Given the description of an element on the screen output the (x, y) to click on. 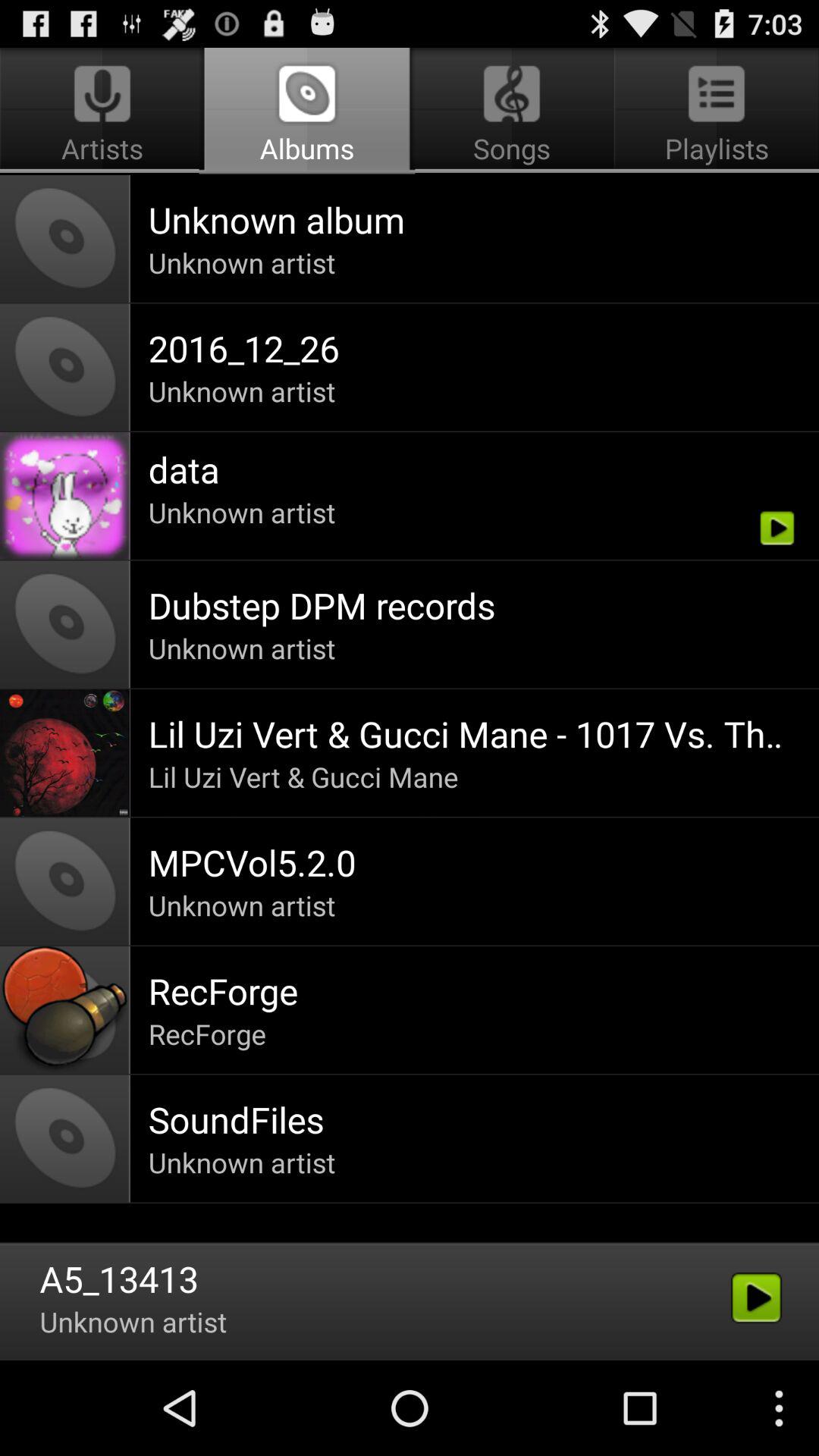
tap icon above unknown album (307, 111)
